Given the description of an element on the screen output the (x, y) to click on. 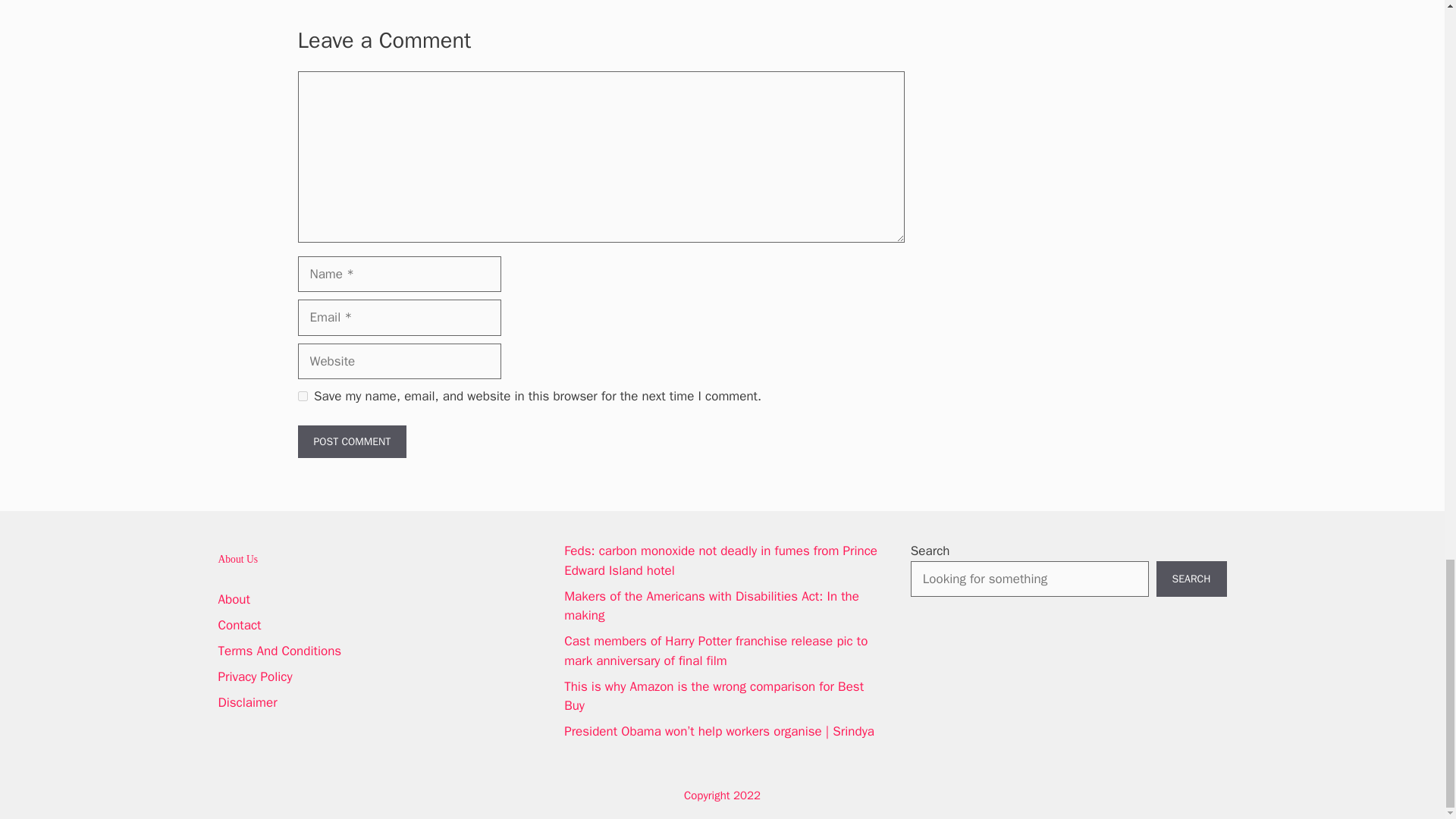
Contact (240, 625)
About (234, 599)
yes (302, 396)
Terms And Conditions (280, 650)
Post Comment (351, 441)
Post Comment (351, 441)
